Given the description of an element on the screen output the (x, y) to click on. 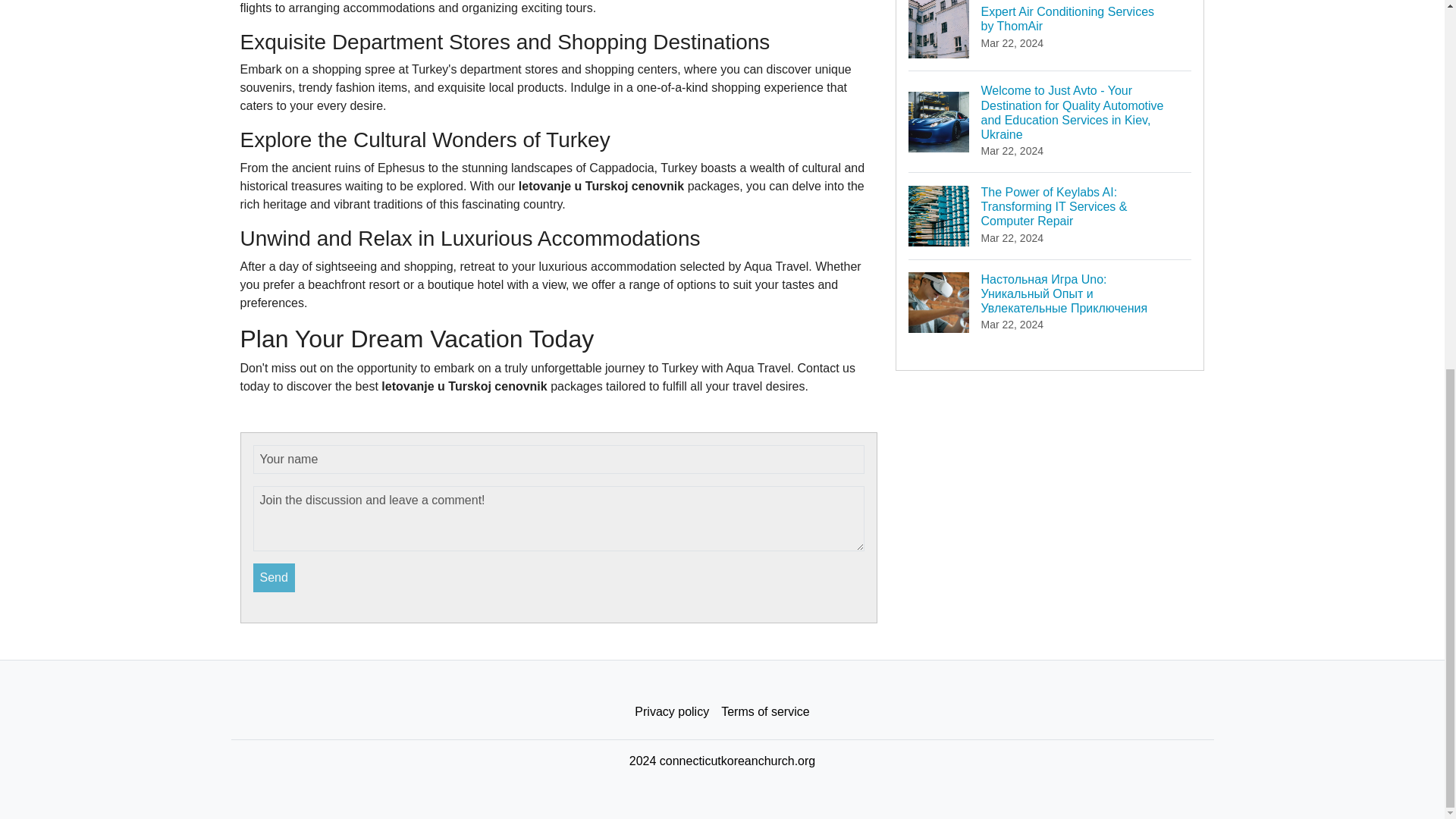
Privacy policy (671, 711)
Send (274, 577)
Terms of service (1050, 35)
Send (764, 711)
